Given the description of an element on the screen output the (x, y) to click on. 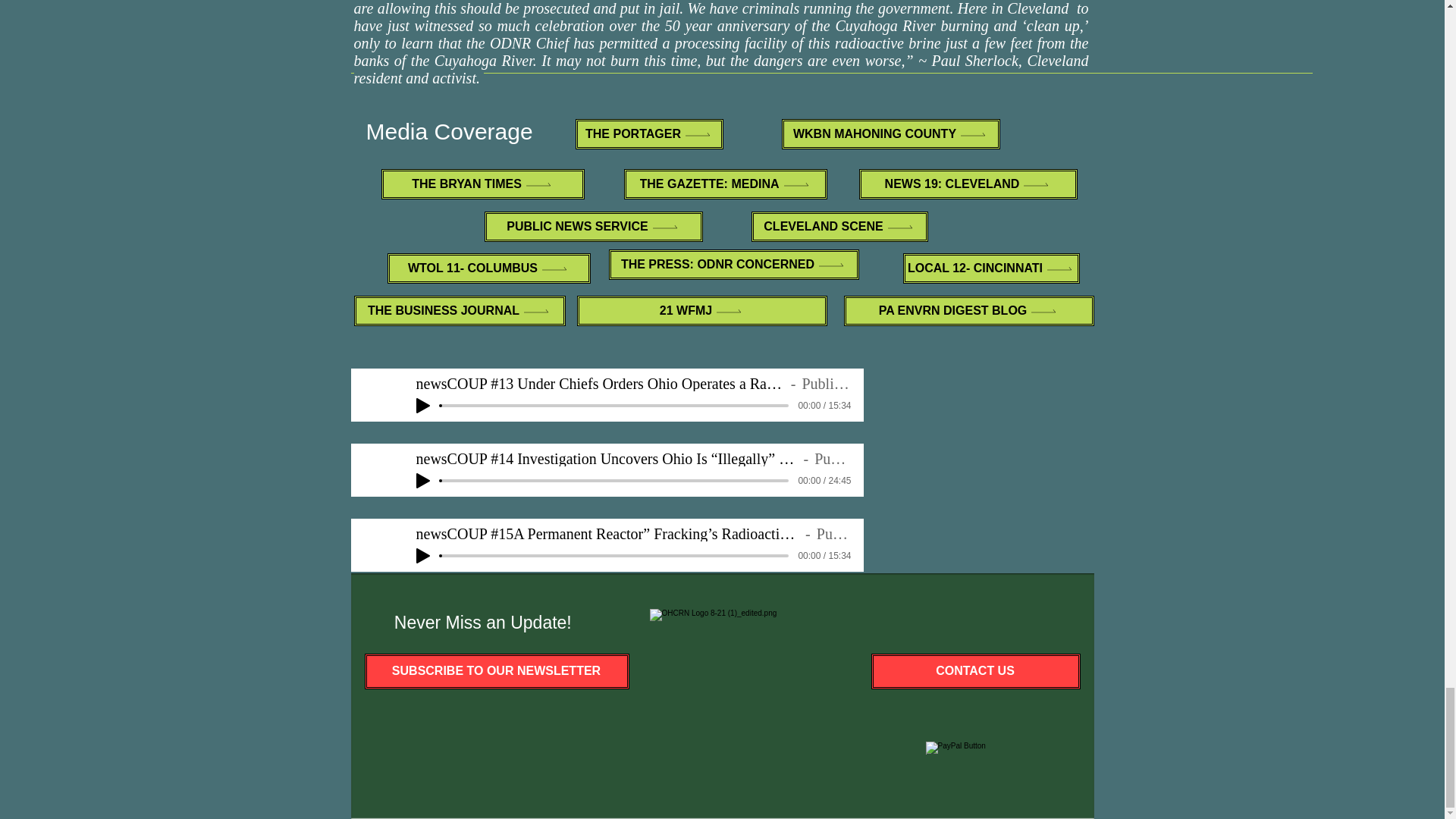
0 (614, 405)
0 (614, 555)
0 (614, 480)
